Given the description of an element on the screen output the (x, y) to click on. 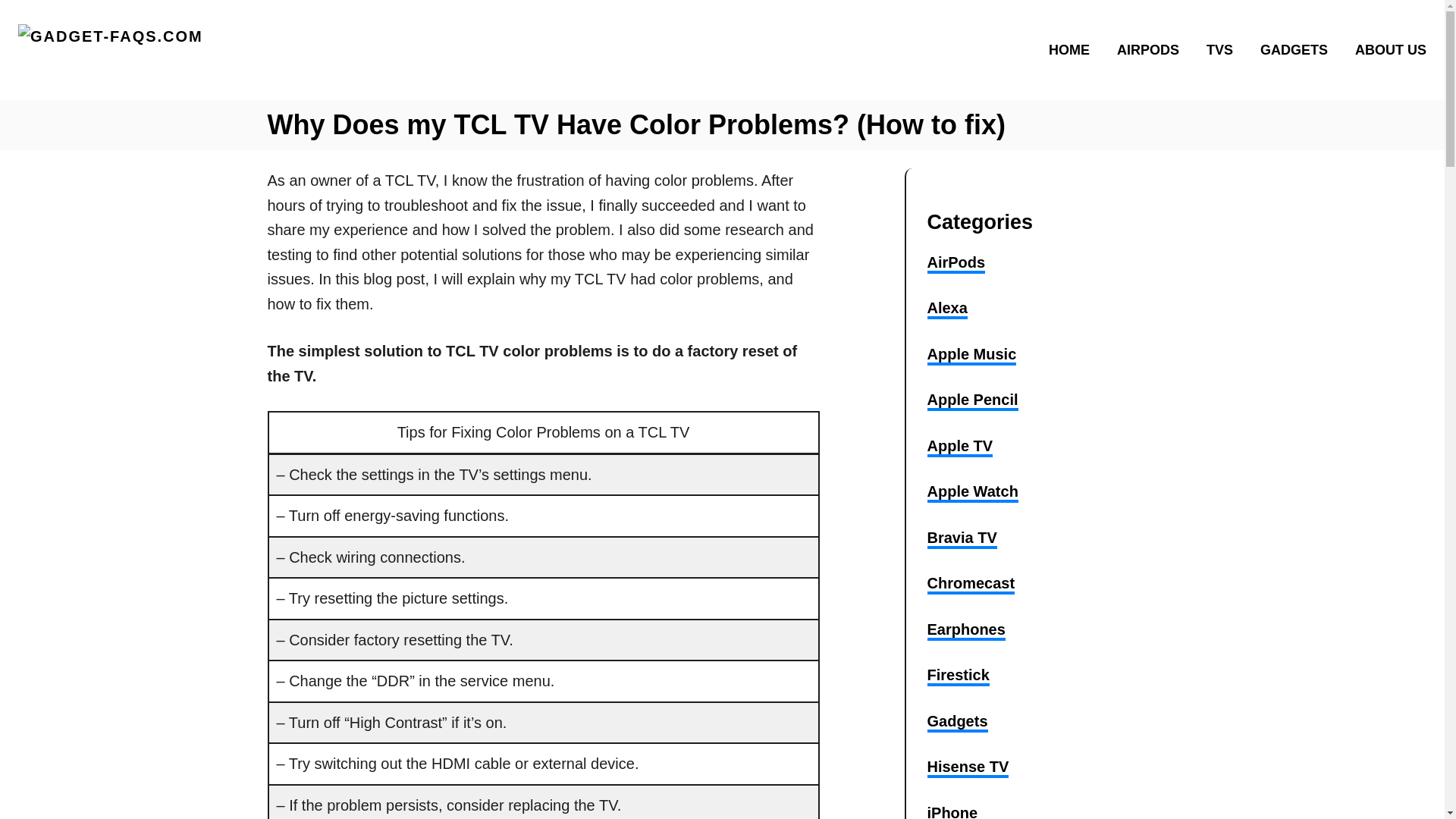
AirPods (955, 263)
Earphones (965, 630)
Gadgets (956, 722)
Chromecast (970, 584)
Apple Watch (971, 492)
HOME (1073, 49)
iPhone (951, 811)
Alexa (946, 309)
Apple Pencil (971, 401)
AIRPODS (1152, 49)
gadget-faqs.com (186, 50)
Bravia TV (960, 538)
Firestick (957, 676)
Apple TV (959, 447)
Hisense TV (967, 768)
